Given the description of an element on the screen output the (x, y) to click on. 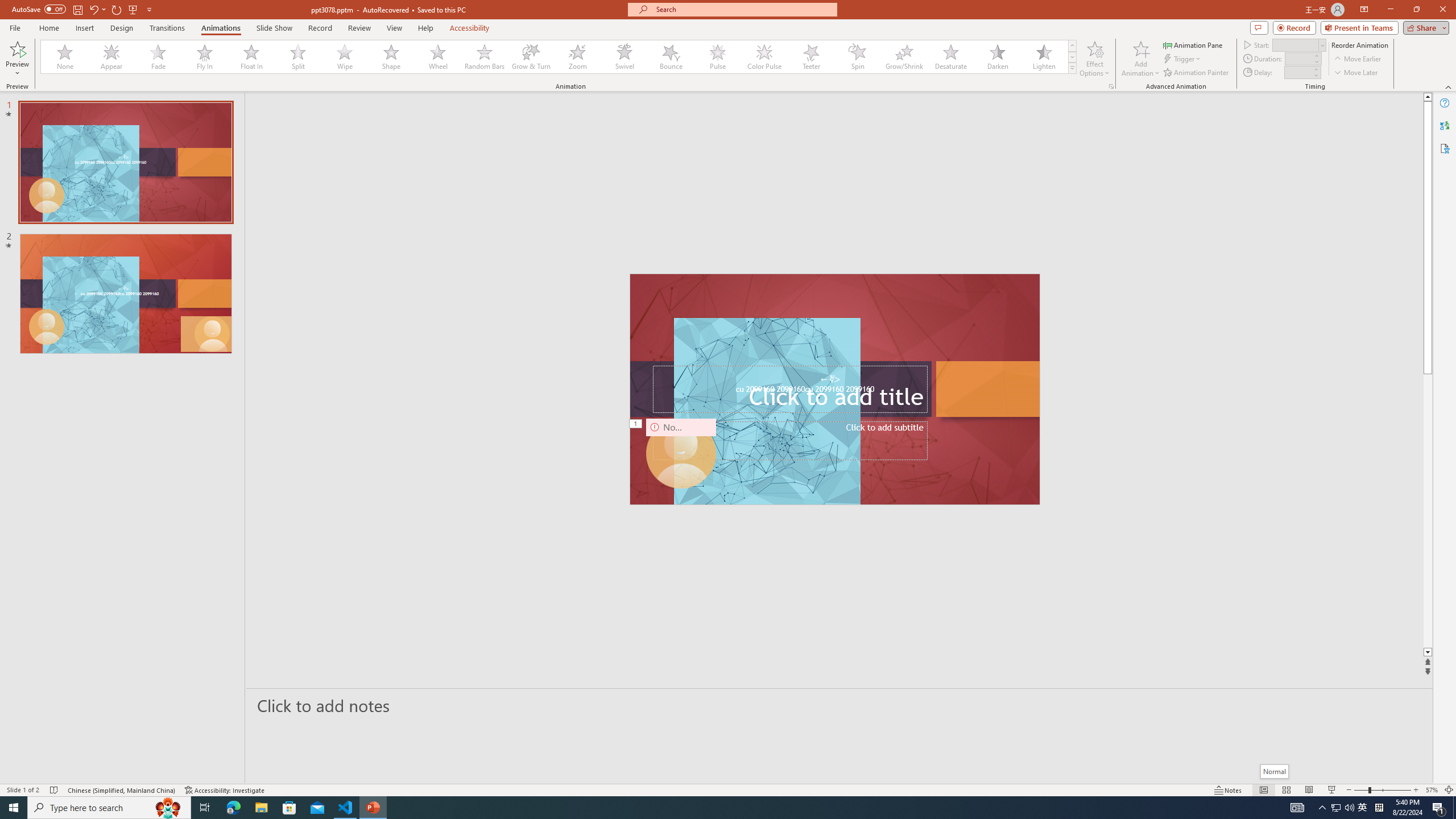
Fly In (205, 56)
Pulse (717, 56)
Darken (997, 56)
Teeter (810, 56)
